Given the description of an element on the screen output the (x, y) to click on. 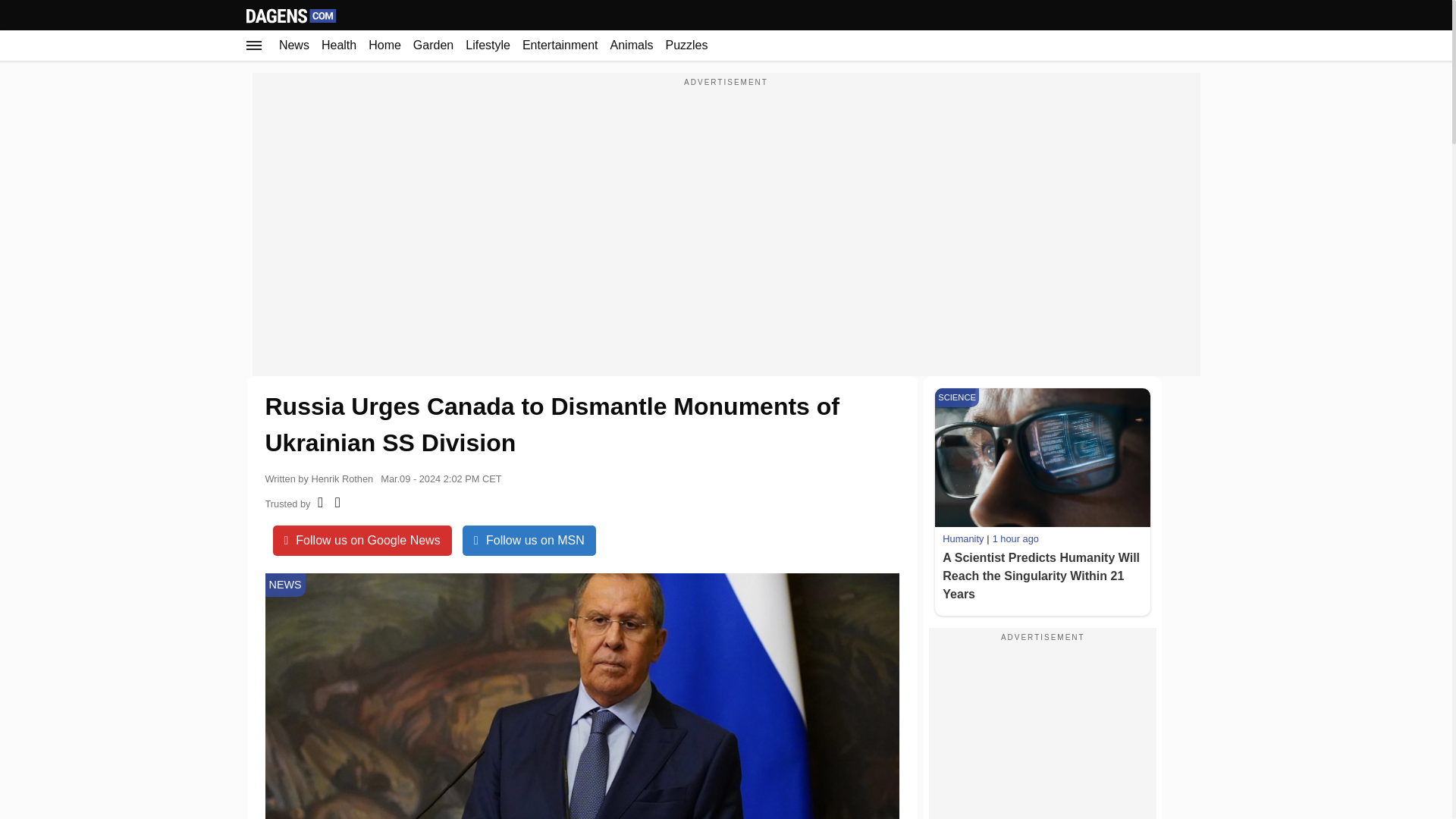
Follow us on MSN (529, 540)
Health (338, 45)
Written by Henrik Rothen (319, 476)
NEWS (284, 585)
Puzzles (686, 45)
Garden (433, 45)
Lifestyle (488, 45)
Home (384, 45)
Entertainment (560, 45)
Follow us on Google News (362, 540)
